Given the description of an element on the screen output the (x, y) to click on. 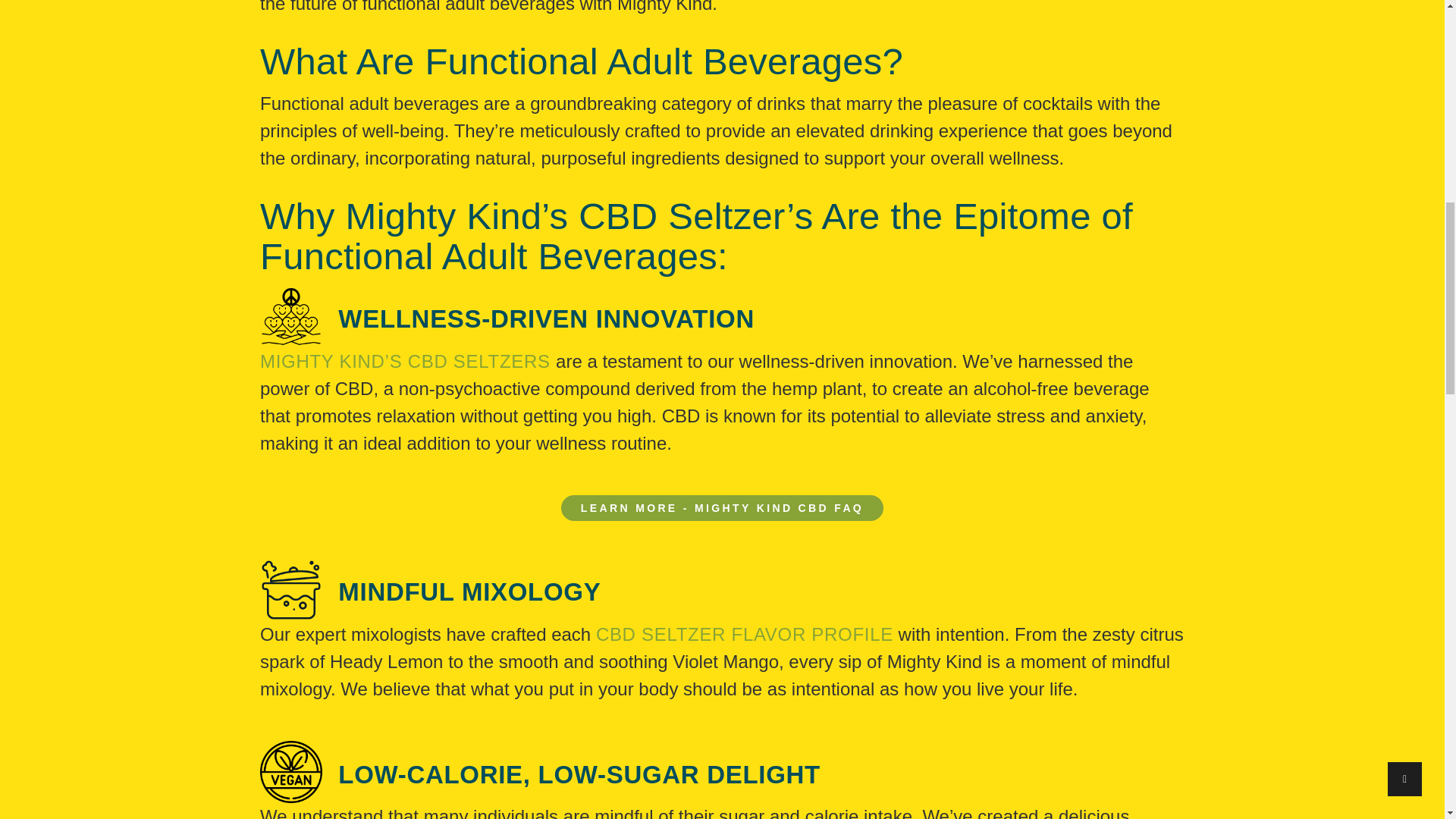
LEARN MORE - MIGHTY KIND CBD FAQ (721, 507)
CBD SELTZER FLAVOR PROFILE (744, 634)
